Given the description of an element on the screen output the (x, y) to click on. 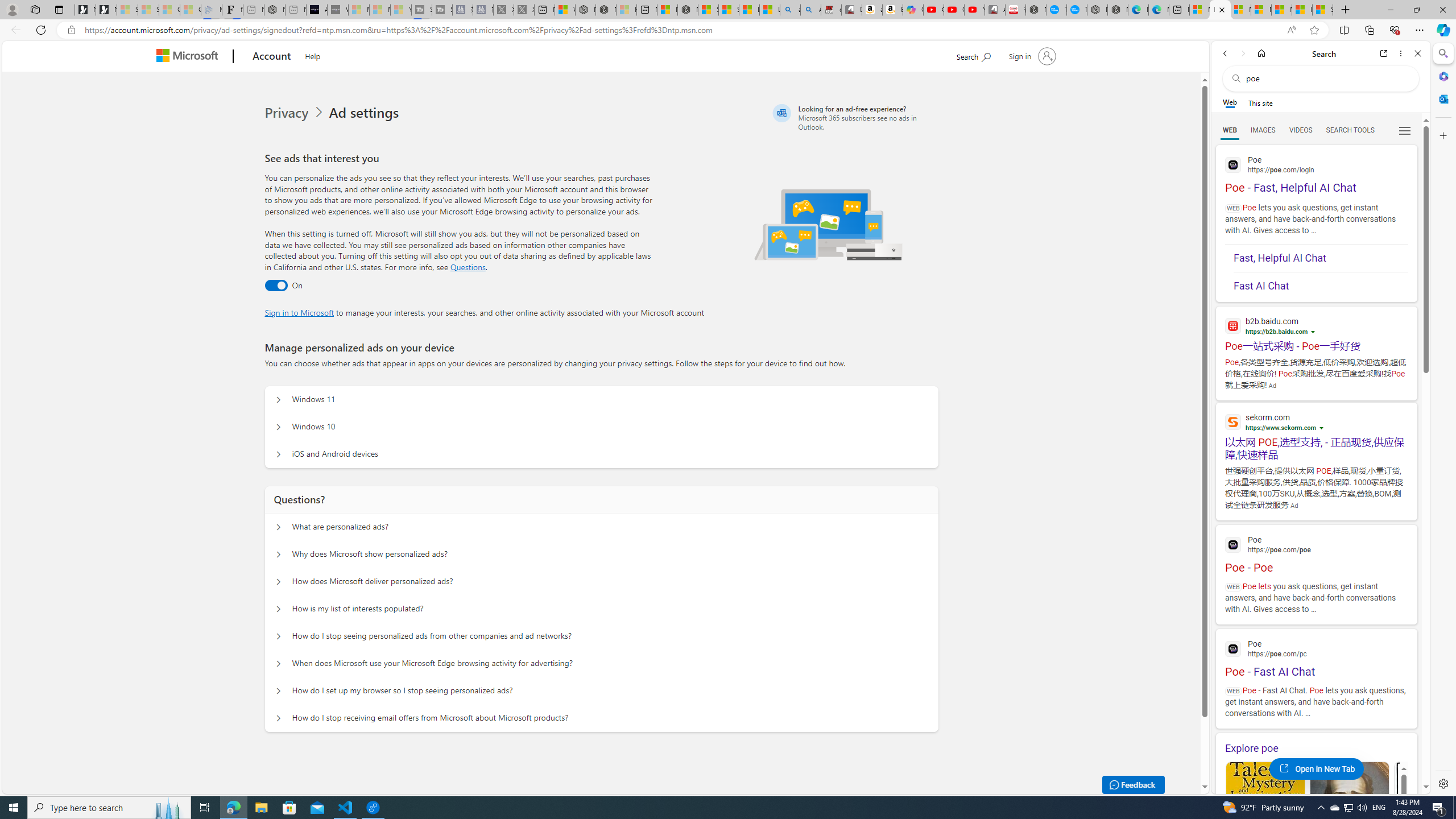
Search Microsoft.com (972, 54)
Amazon Echo Dot PNG - Search Images (809, 9)
AI Voice Changer for PC and Mac - Voice.ai (316, 9)
Questions? Why does Microsoft show personalized ads? (278, 554)
Search Filter, Search Tools (1350, 129)
What's the best AI voice generator? - voice.ai - Sleeping (337, 9)
